Given the description of an element on the screen output the (x, y) to click on. 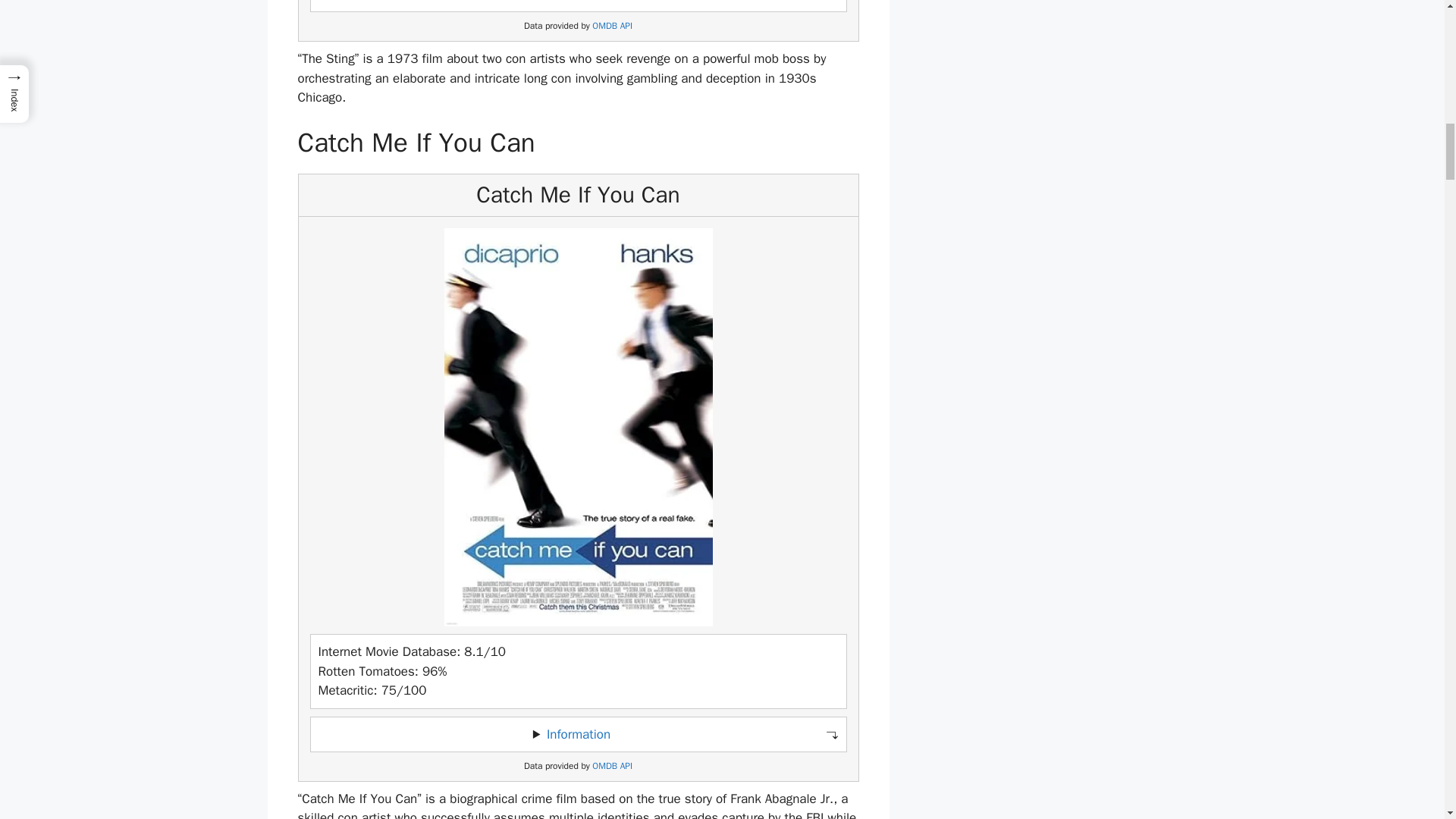
OMDB API (611, 766)
Information (578, 1)
Open Movie Database API (611, 25)
Information (578, 734)
Toggle information (578, 6)
Open Movie Database API (611, 766)
Toggle information (578, 734)
OMDB API (611, 25)
